Given the description of an element on the screen output the (x, y) to click on. 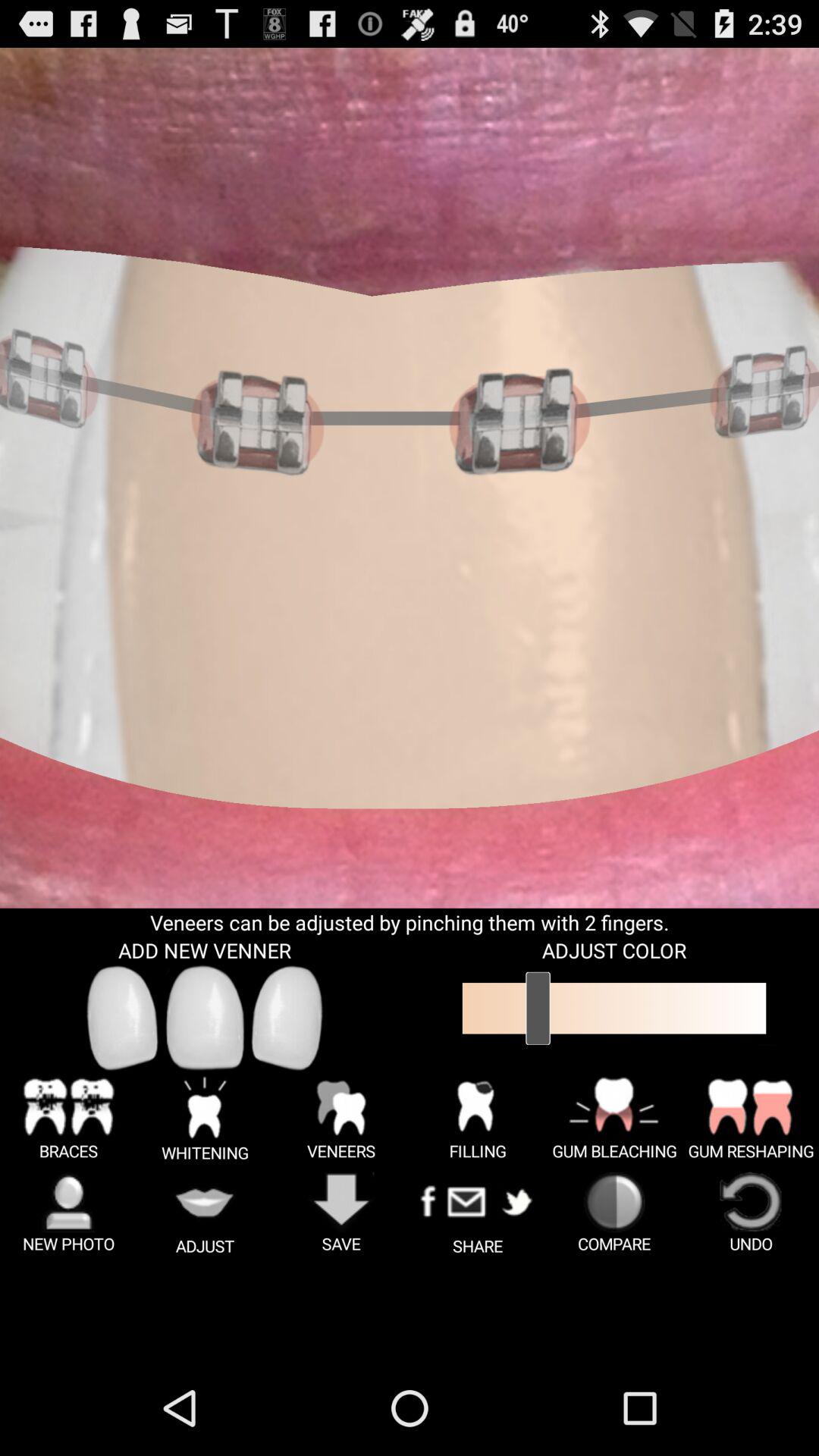
click on the icon below whitening (204, 1213)
go to the option save shown next to adjust (340, 1213)
click on the button which is above the share (477, 1118)
click the image right to gum beaching (750, 1118)
click on the button which is next to the braces (204, 1118)
click the compare button on the web page (614, 1213)
click on icon on the right side of filling (614, 1118)
